Given the description of an element on the screen output the (x, y) to click on. 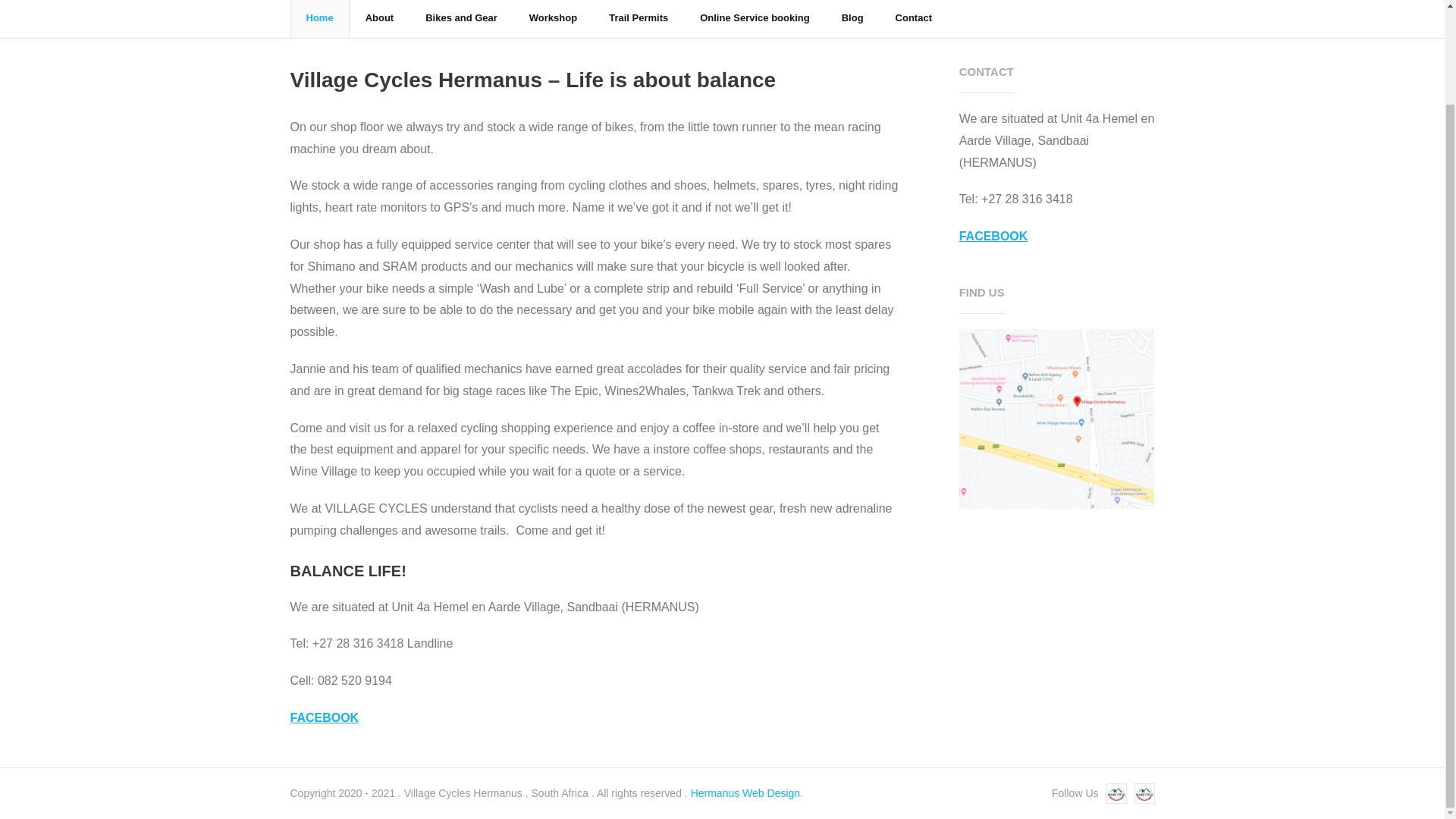
FACEBOOK (323, 717)
About (379, 18)
Workshop (552, 18)
Online Service booking (754, 18)
Home (319, 18)
Find us (1056, 418)
Hermanus Web Design (744, 793)
Trail Permits (638, 18)
Bikes and Gear (461, 18)
FACEBOOK (993, 236)
